Given the description of an element on the screen output the (x, y) to click on. 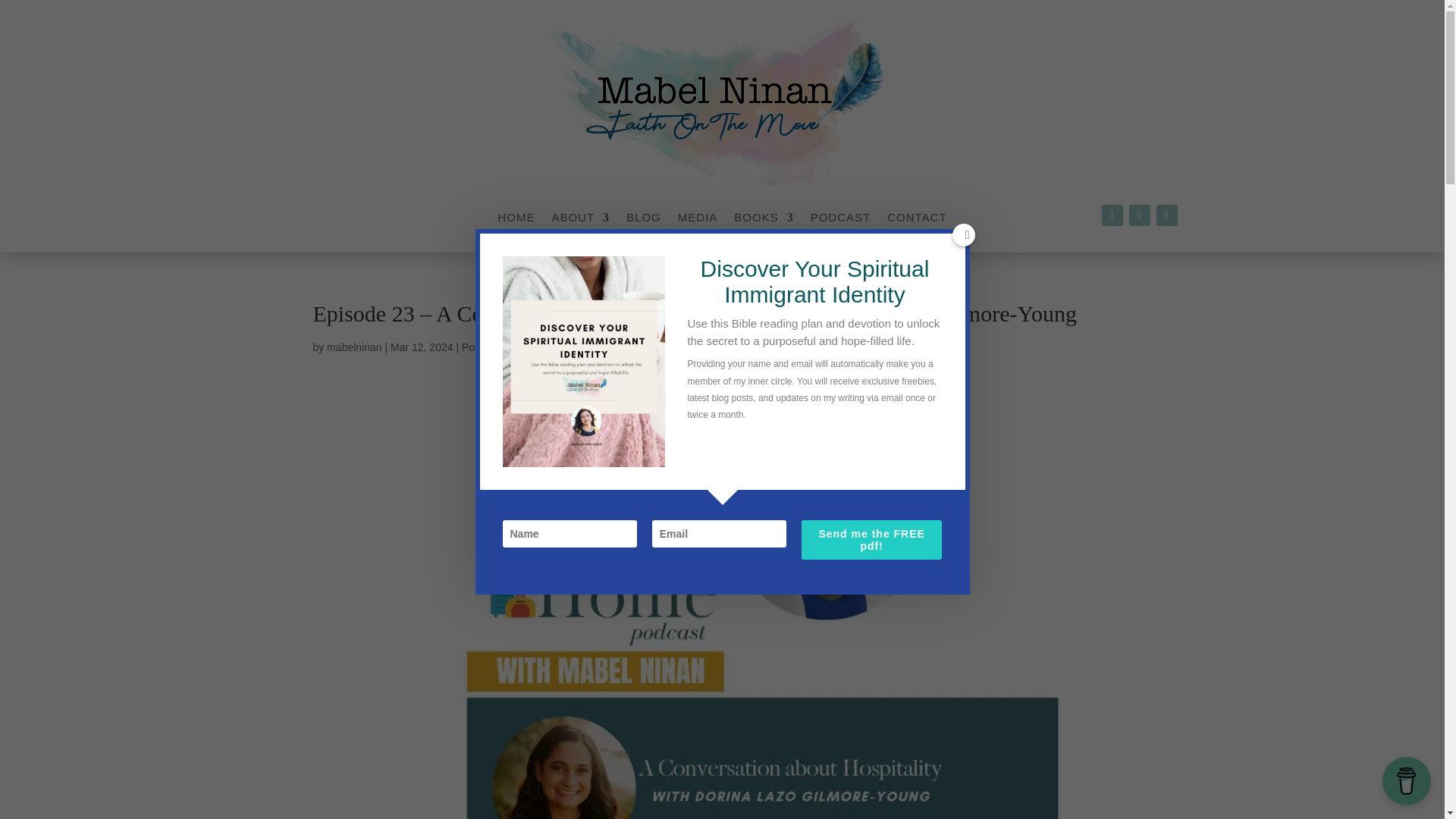
PODCAST (840, 220)
mabelninan (353, 346)
Follow on Youtube (1166, 215)
0 comments (537, 346)
Follow on Facebook (1111, 215)
Podcast (480, 346)
HOME (515, 220)
BLOG (643, 220)
CONTACT (916, 220)
MEDIA (697, 220)
Mabel-Ninan-logo final (721, 102)
Posts by mabelninan (353, 346)
Follow on Instagram (1139, 215)
BOOKS (763, 220)
ABOUT (580, 220)
